Given the description of an element on the screen output the (x, y) to click on. 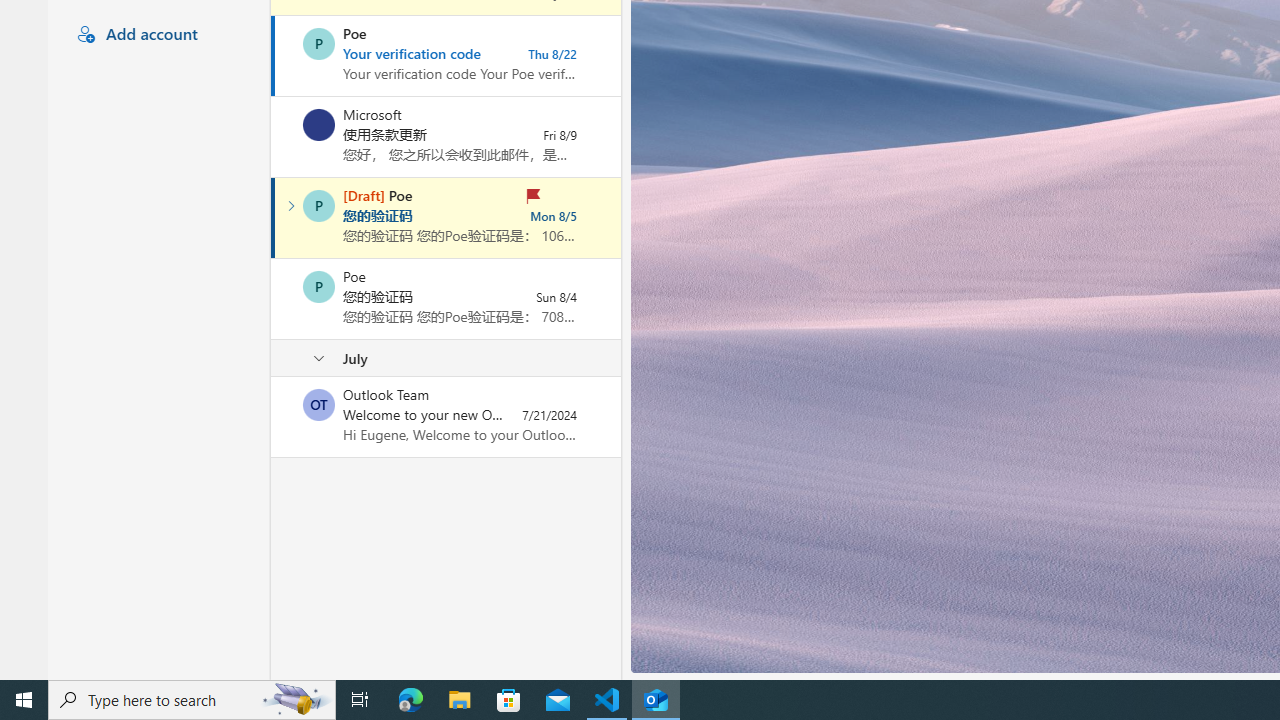
Select a conversation (319, 404)
Outlook (new) - 1 running window (656, 699)
Add account (156, 35)
Mark as unread (273, 417)
